Given the description of an element on the screen output the (x, y) to click on. 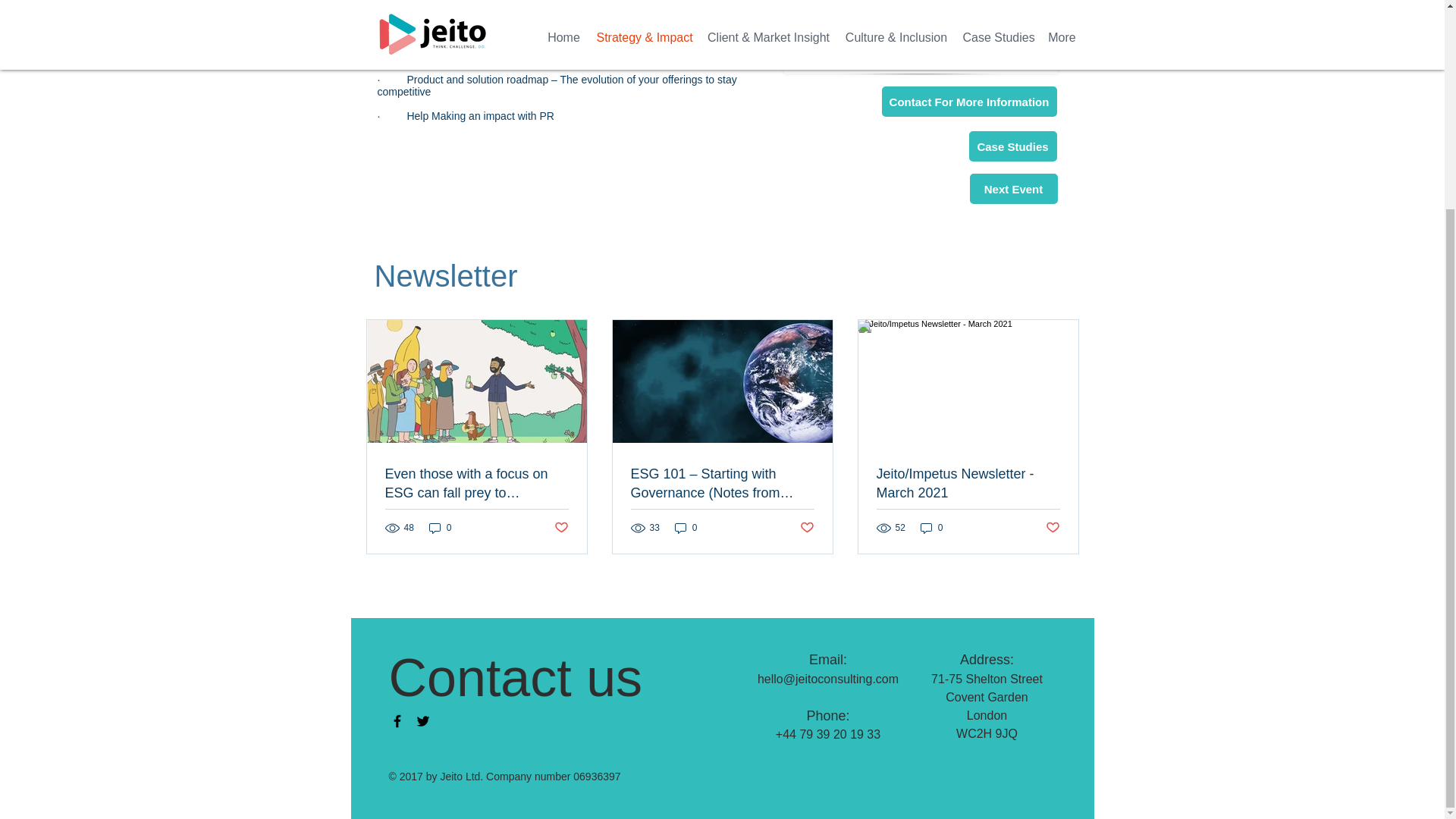
0 (685, 527)
Post not marked as liked (806, 528)
0 (440, 527)
0 (931, 527)
Case Studies (1013, 146)
Contact For More Information (968, 101)
Post not marked as liked (560, 528)
Post not marked as liked (1052, 528)
Next Event (1013, 188)
